Given the description of an element on the screen output the (x, y) to click on. 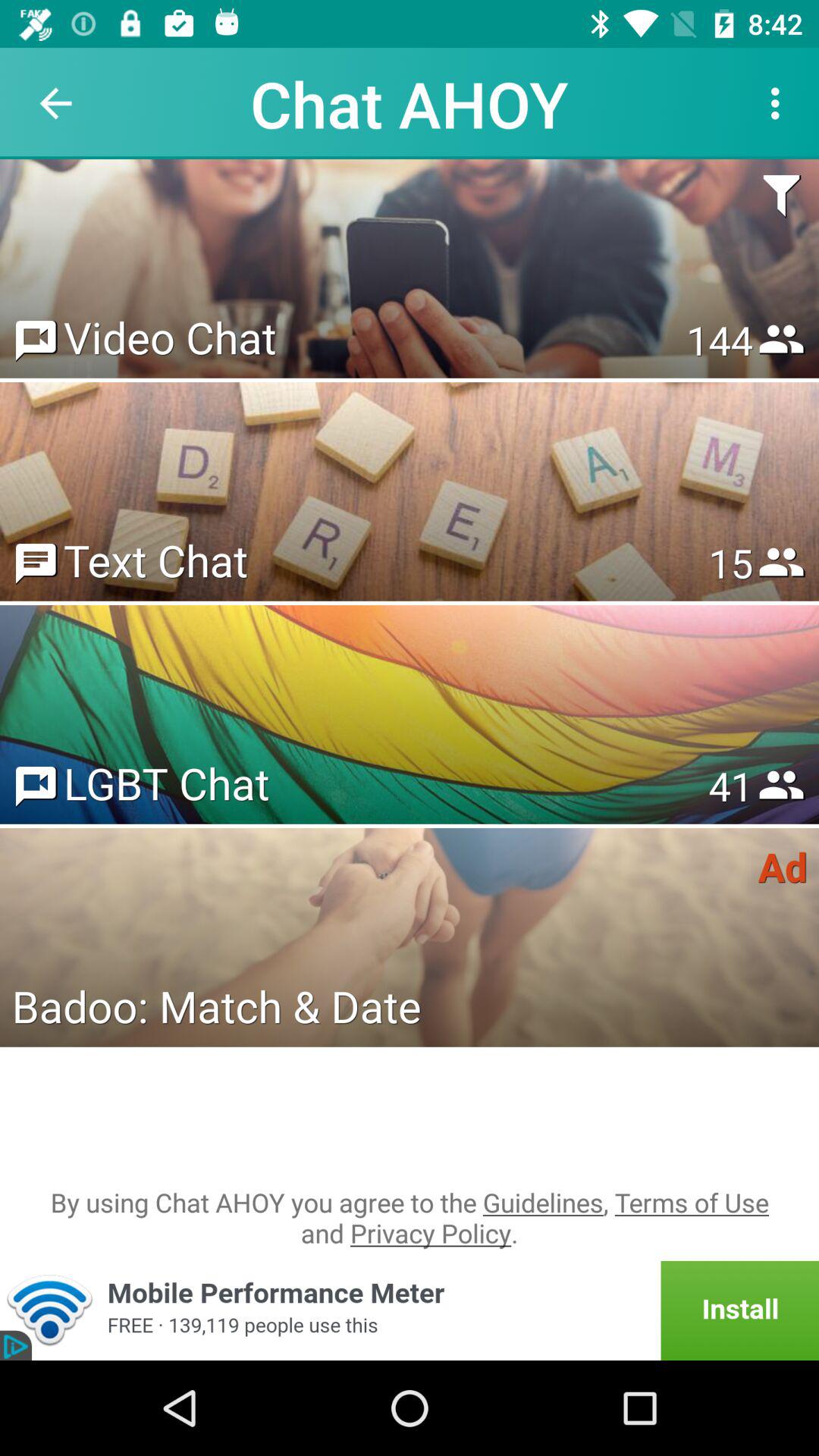
flip until the by using chat icon (409, 1217)
